Given the description of an element on the screen output the (x, y) to click on. 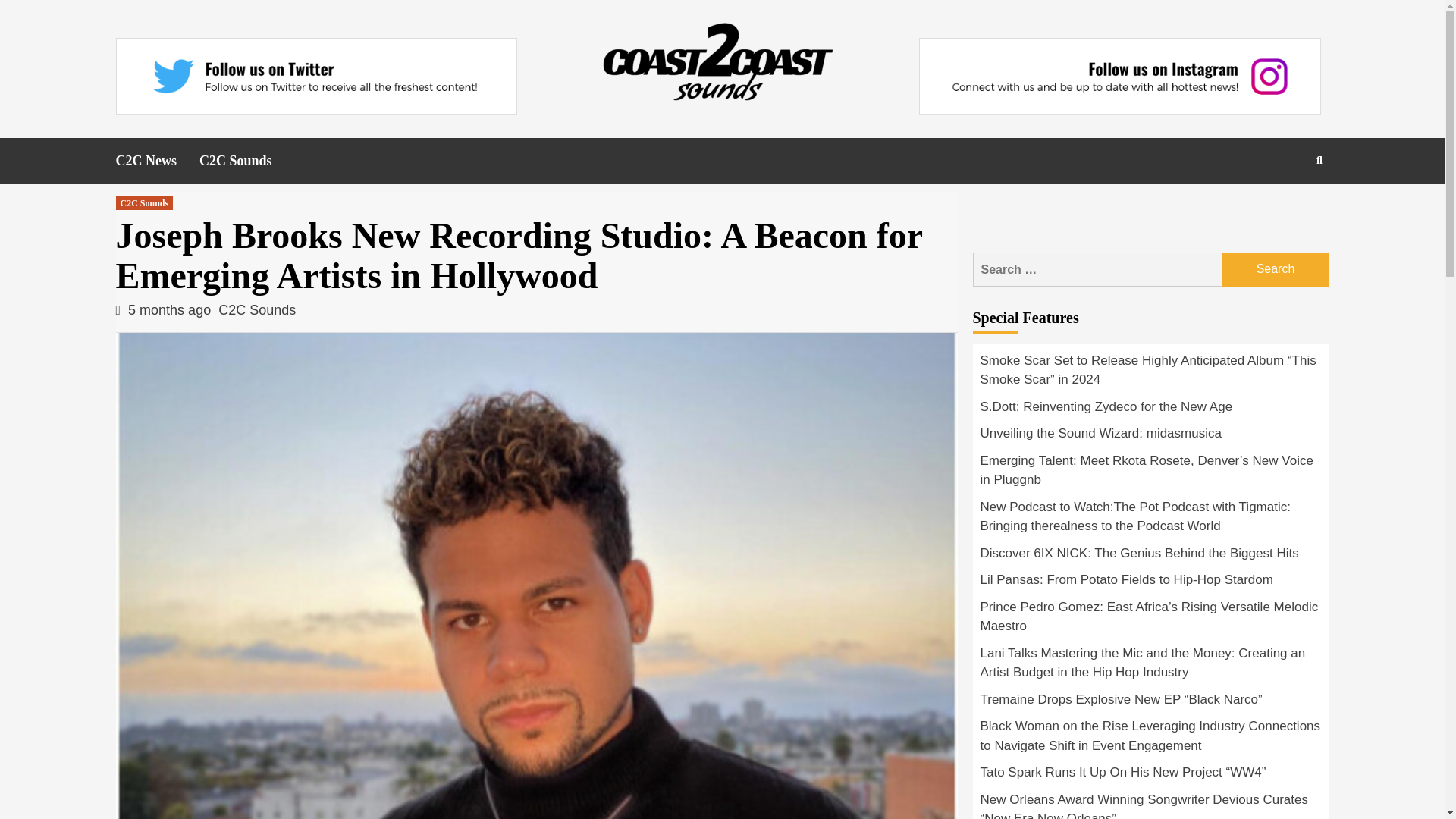
Search (1276, 269)
S.Dott: Reinventing Zydeco for the New Age (1149, 411)
Unveiling the Sound Wizard: midasmusica (1149, 437)
Discover 6IX NICK: The Genius Behind the Biggest Hits (1149, 556)
Search (1276, 269)
Advertisement (1150, 214)
Search (1283, 209)
Lil Pansas: From Potato Fields to Hip-Hop Stardom (1149, 583)
C2C Sounds (247, 161)
Follow on Instagram (1119, 75)
Search (1276, 269)
C2C Sounds (144, 202)
Follow on Twitter (315, 75)
